Given the description of an element on the screen output the (x, y) to click on. 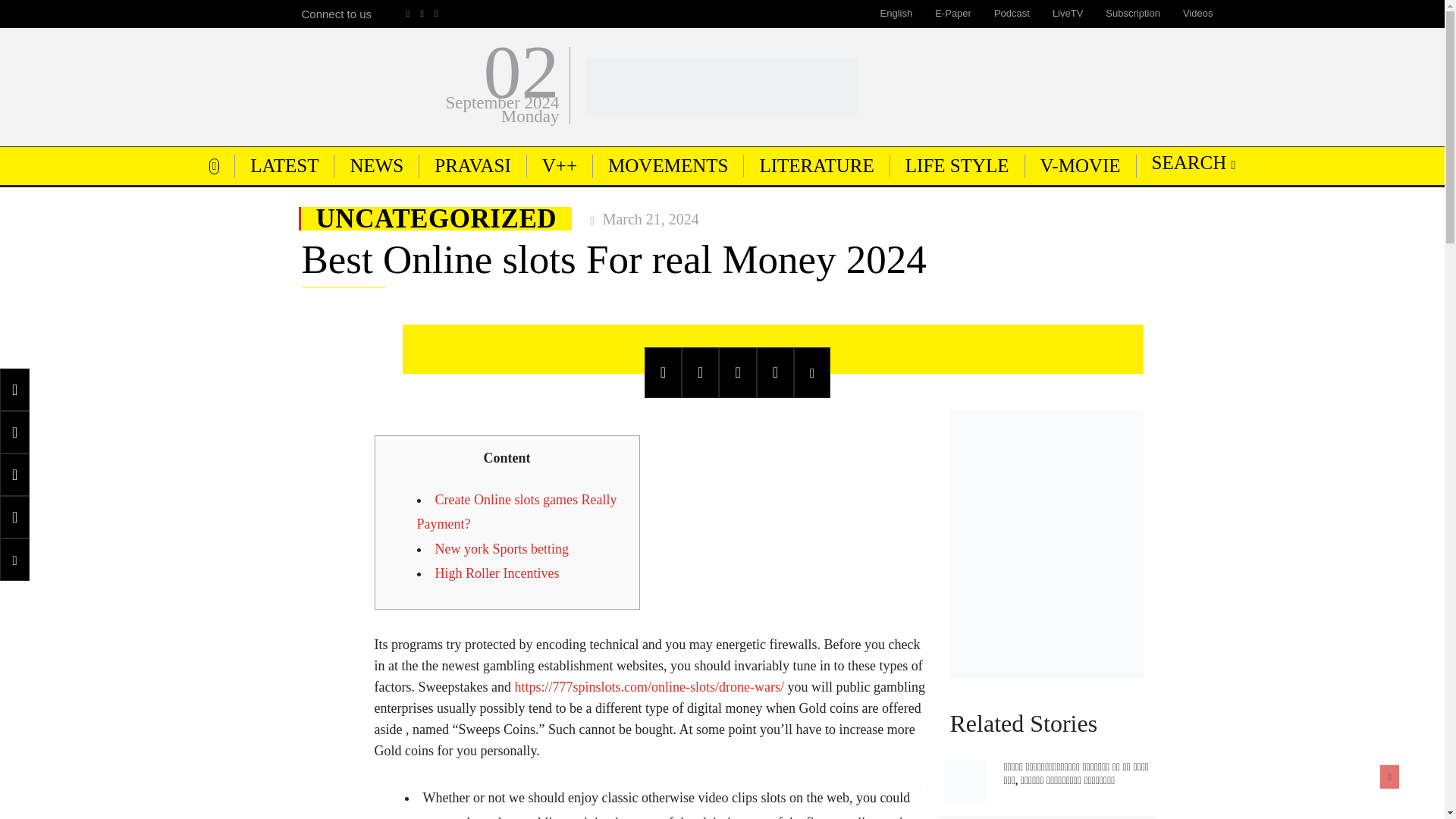
LATEST (283, 165)
LIFE STYLE (957, 165)
PRAVASI (472, 165)
MOVEMENTS (667, 165)
V-MOVIE (1080, 165)
NEWS (376, 165)
SEARCH (1193, 162)
LITERATURE (816, 165)
